Given the description of an element on the screen output the (x, y) to click on. 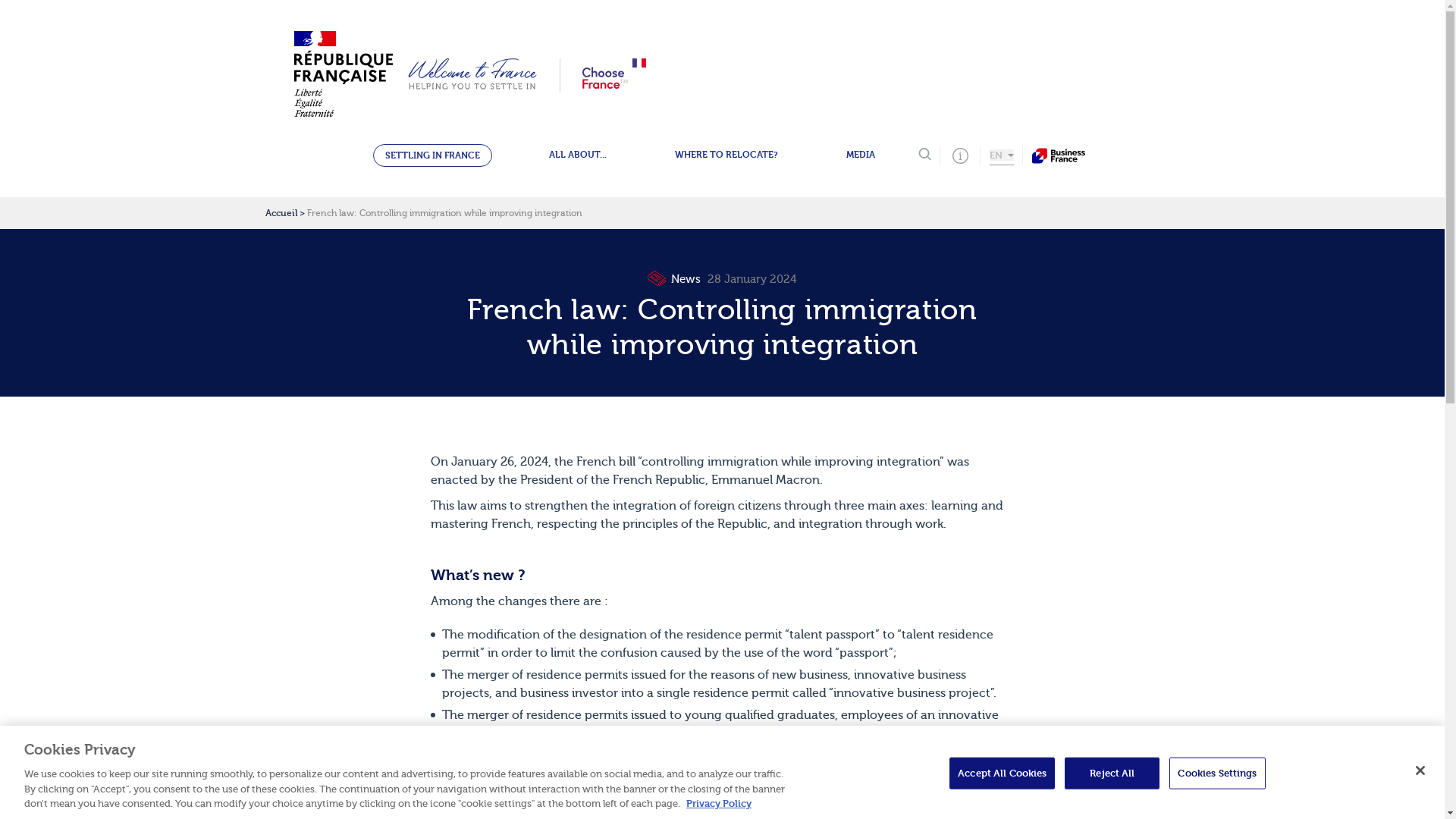
Accueil (280, 213)
News (675, 278)
ALL ABOUT... (577, 154)
MEDIA (860, 154)
WHERE TO RELOCATE? (726, 154)
SETTLING IN FRANCE (432, 155)
